Given the description of an element on the screen output the (x, y) to click on. 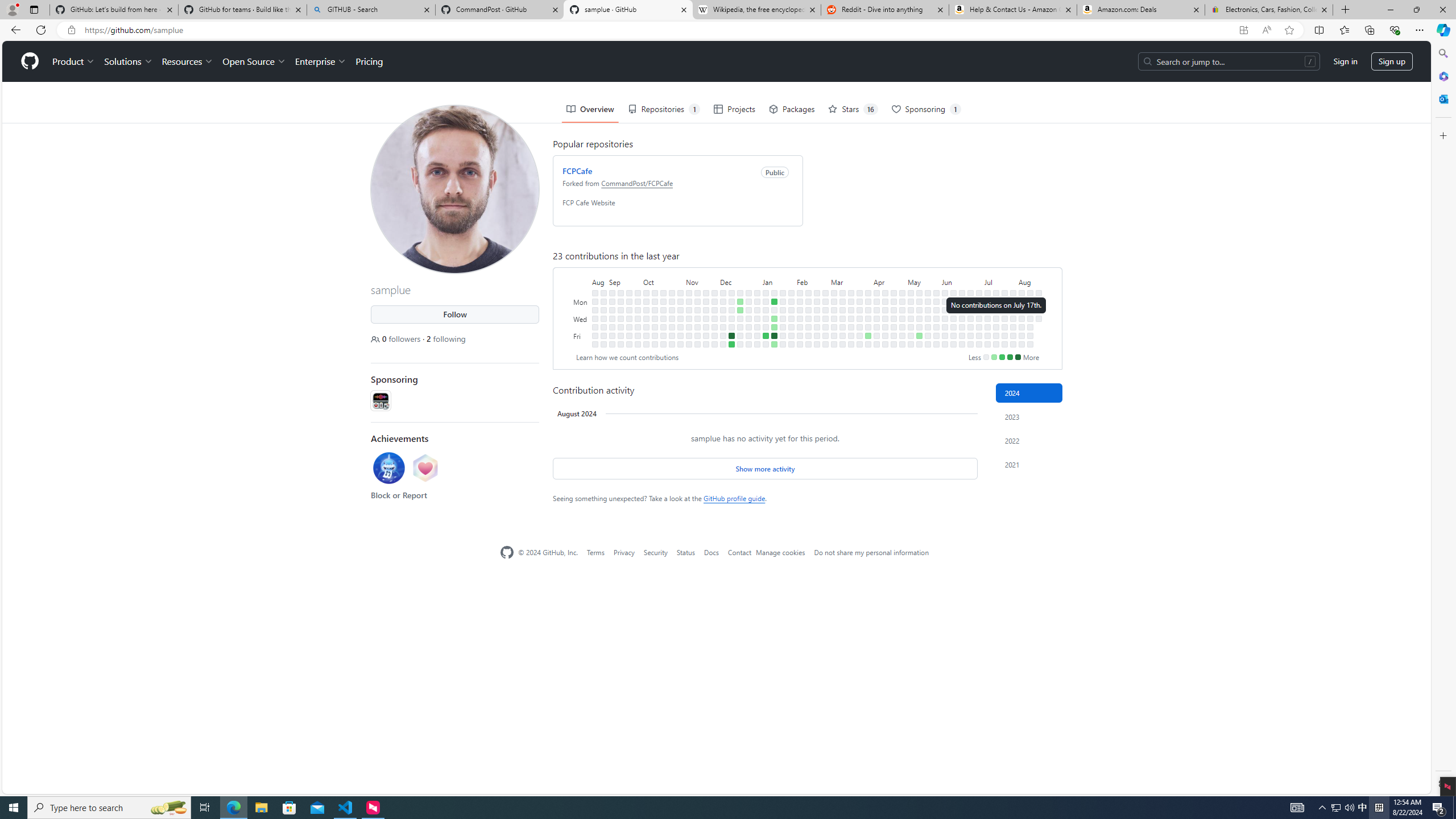
No contributions on December 11th. (731, 301)
Overview (590, 108)
No contributions on October 4th. (646, 318)
No contributions on September 8th. (611, 335)
No contributions on September 16th. (620, 343)
No contributions on June 26th. (970, 318)
No contributions on December 29th. (748, 335)
No contributions on October 18th. (663, 318)
No contributions on April 17th. (885, 318)
No contributions on February 15th. (807, 326)
No contributions on August 22nd. (595, 309)
No contributions on December 13th. (731, 318)
No contributions on December 12th. (731, 309)
No contributions on November 28th. (714, 309)
